Given the description of an element on the screen output the (x, y) to click on. 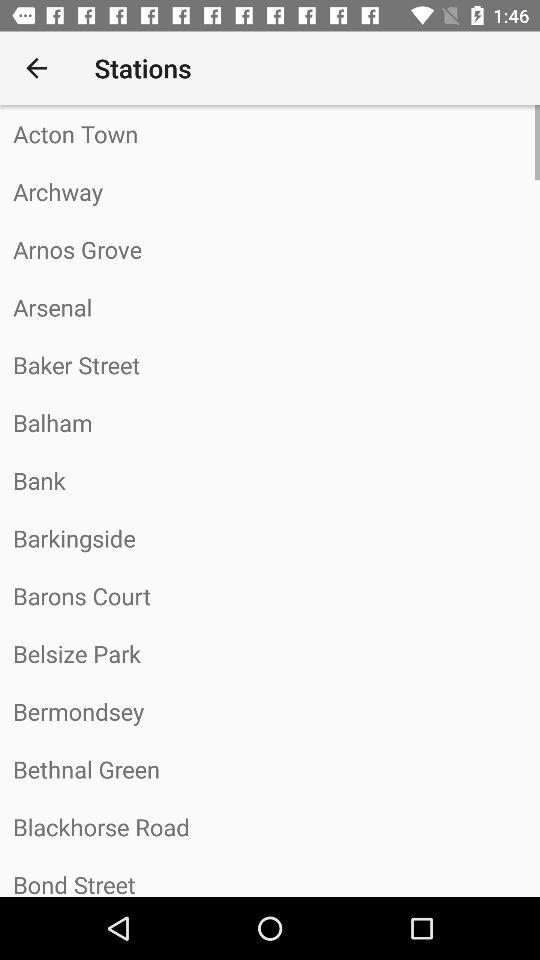
press bank item (270, 480)
